Given the description of an element on the screen output the (x, y) to click on. 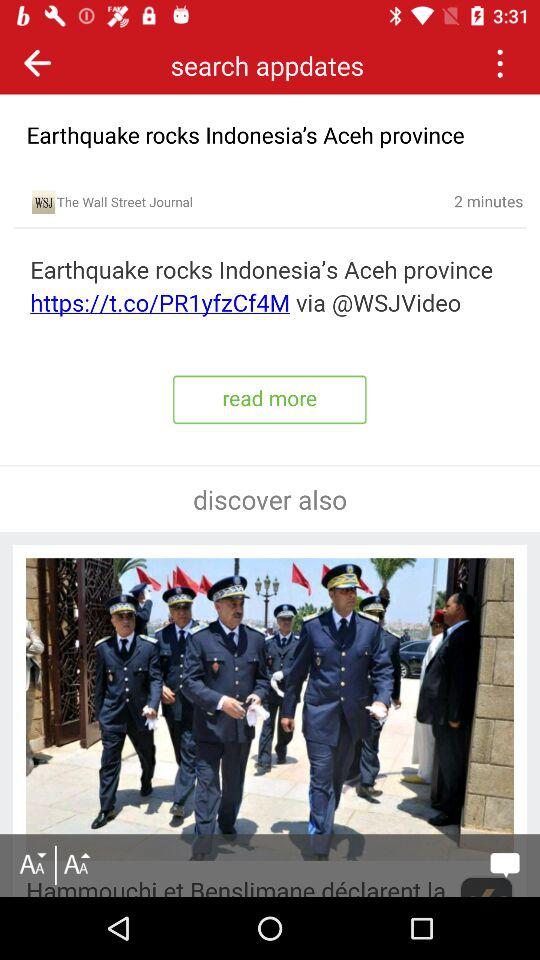
message (504, 865)
